Given the description of an element on the screen output the (x, y) to click on. 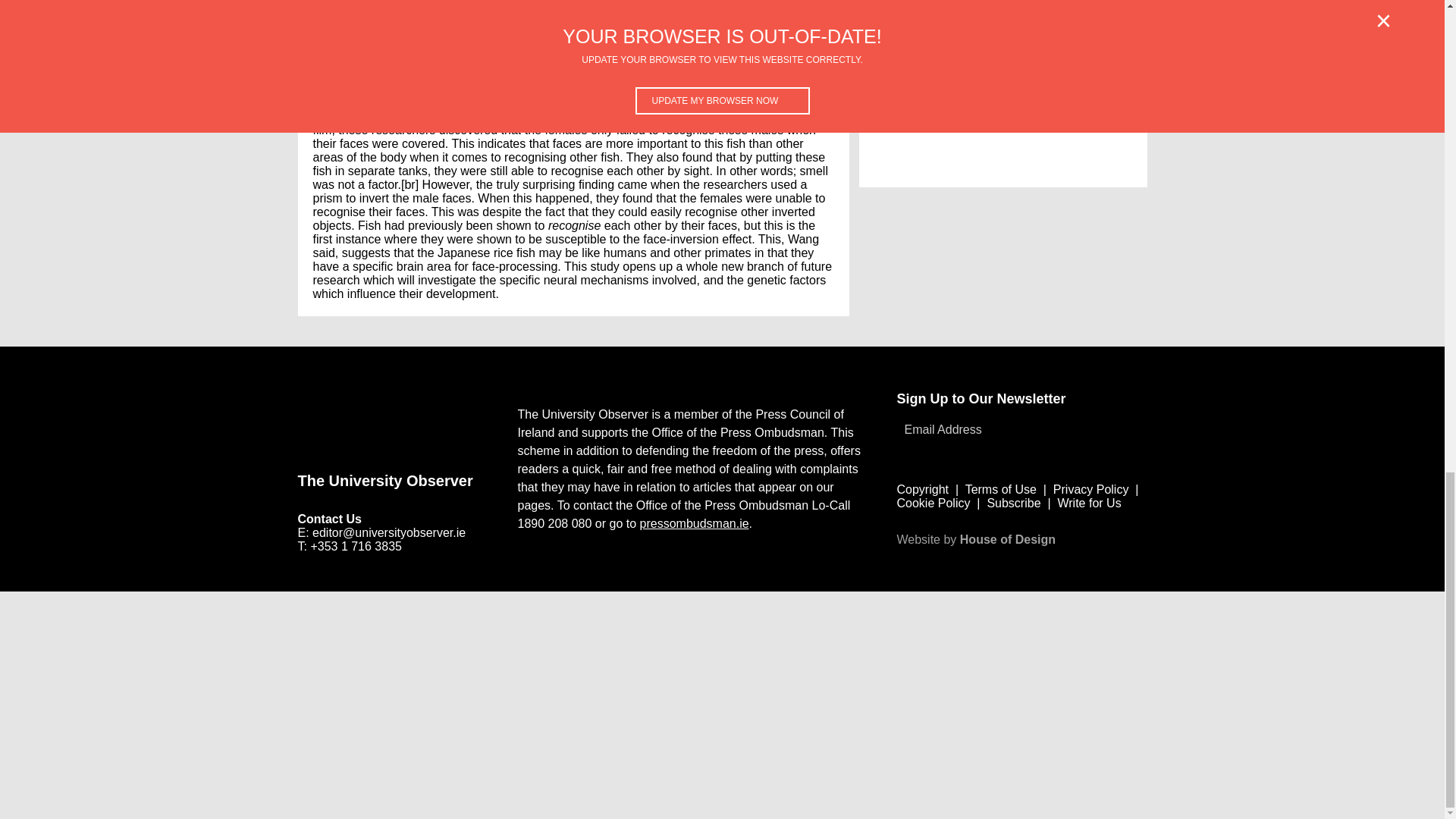
Advertisement (1003, 93)
